Given the description of an element on the screen output the (x, y) to click on. 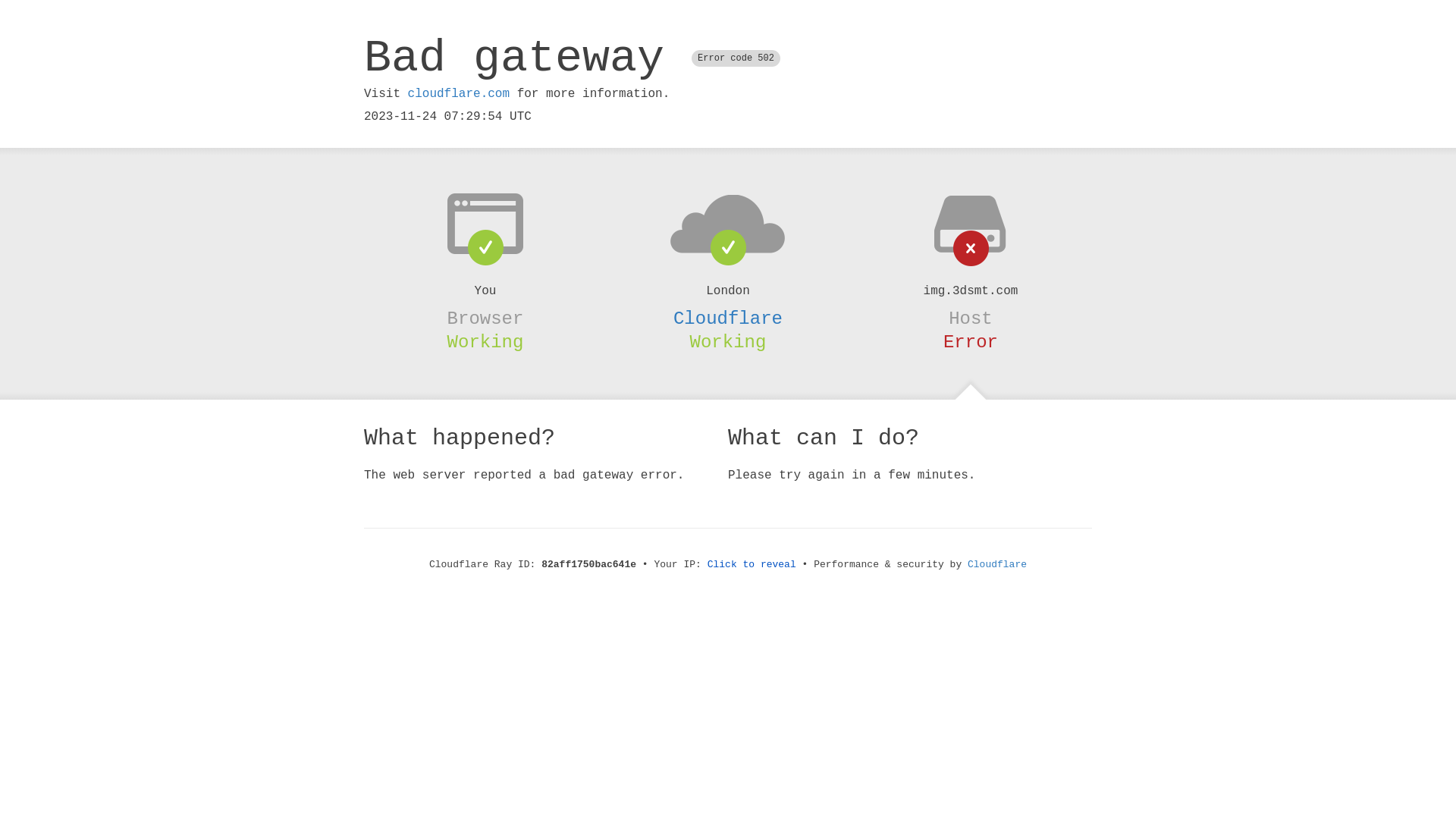
Cloudflare Element type: text (727, 318)
Cloudflare Element type: text (996, 564)
Click to reveal Element type: text (751, 564)
cloudflare.com Element type: text (458, 93)
